Given the description of an element on the screen output the (x, y) to click on. 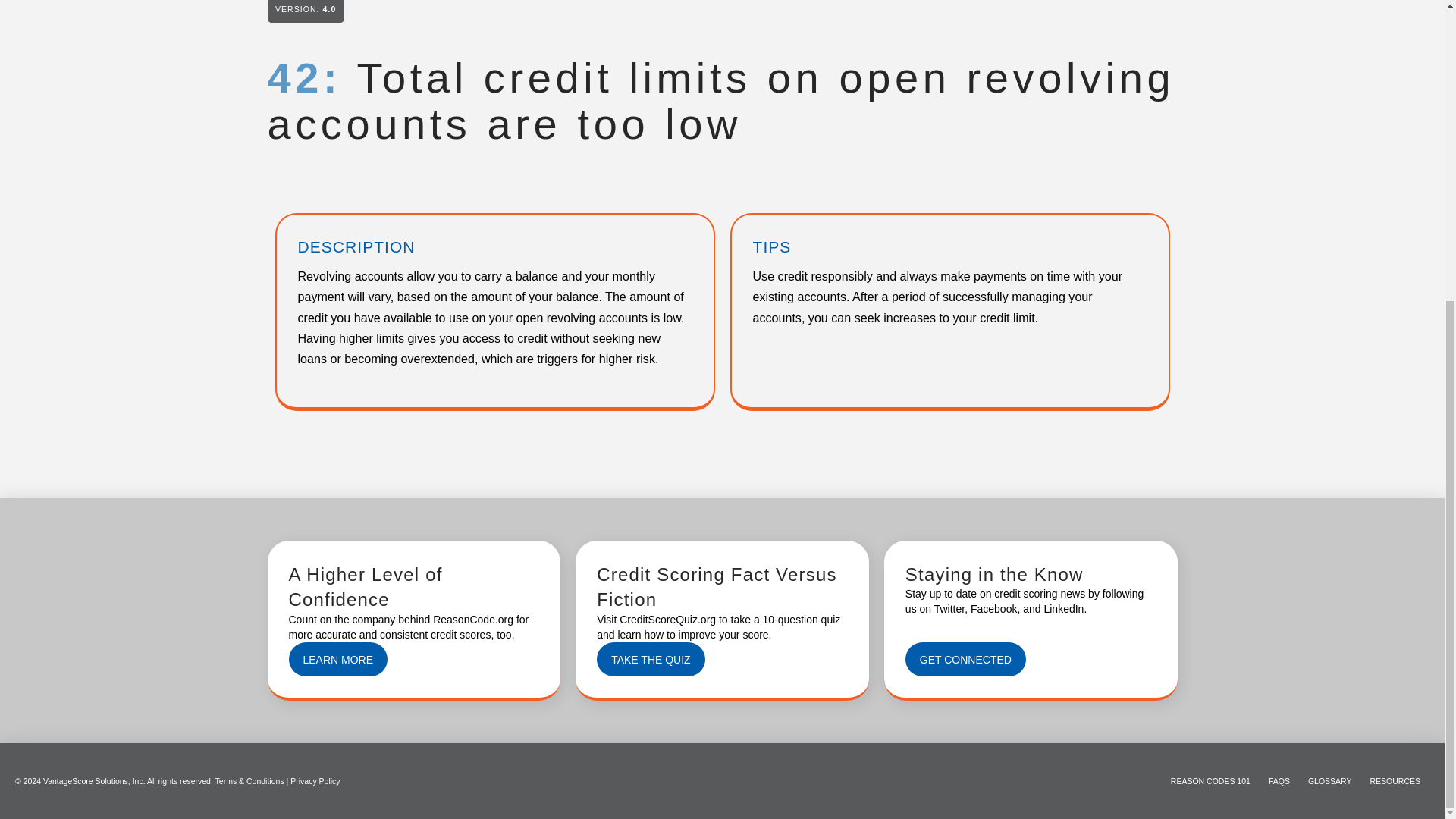
GET CONNECTED (965, 659)
Privacy Policy (314, 780)
LEARN MORE (337, 659)
TAKE THE QUIZ (650, 659)
